Given the description of an element on the screen output the (x, y) to click on. 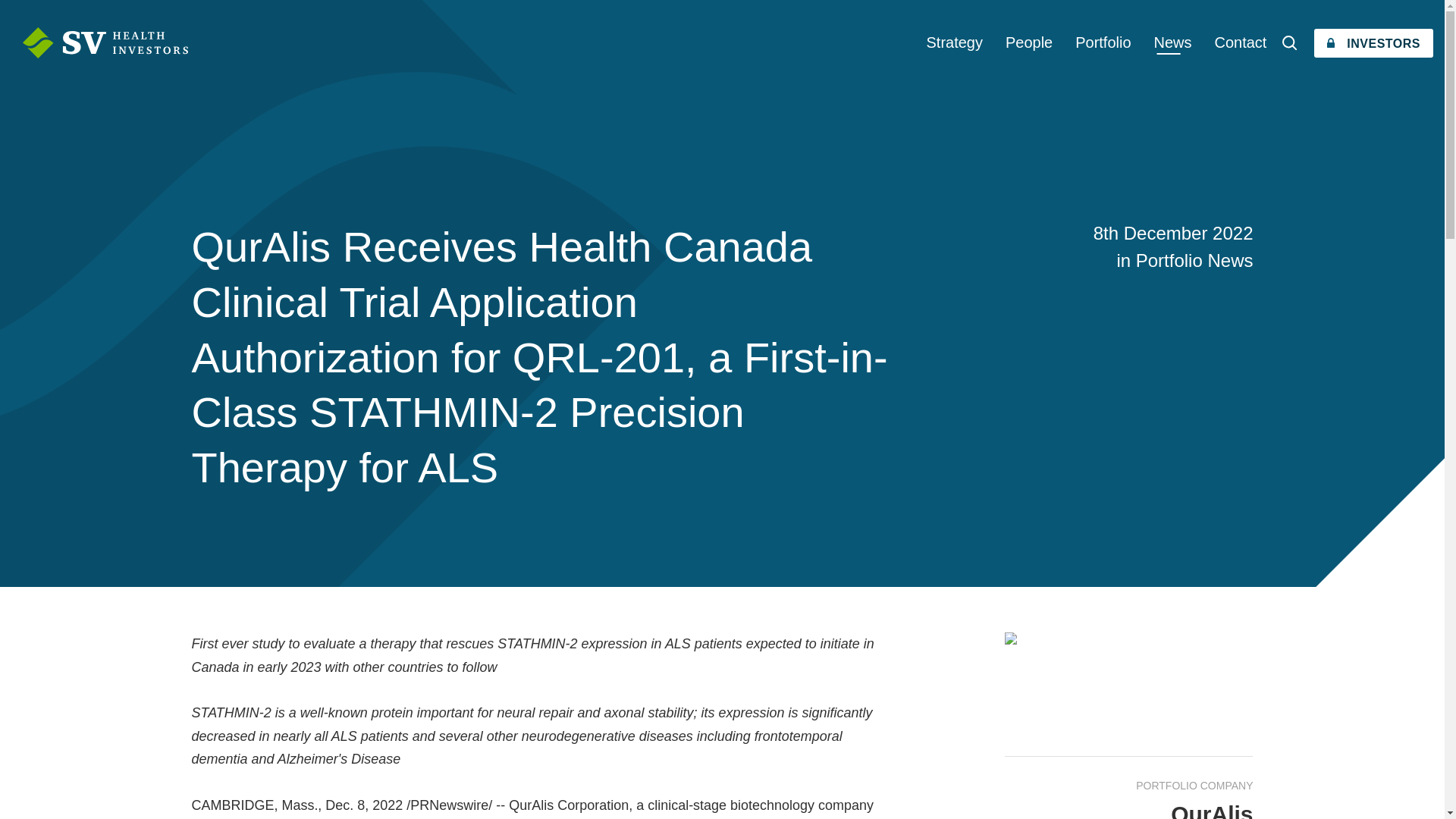
QurAlis Corporation (568, 805)
Strategy (954, 42)
QurAlis (1211, 810)
Contact (1240, 42)
SV Health Investors (105, 42)
Portfolio (1102, 42)
News (1173, 42)
People (1029, 42)
INVESTORS (1373, 42)
